Given the description of an element on the screen output the (x, y) to click on. 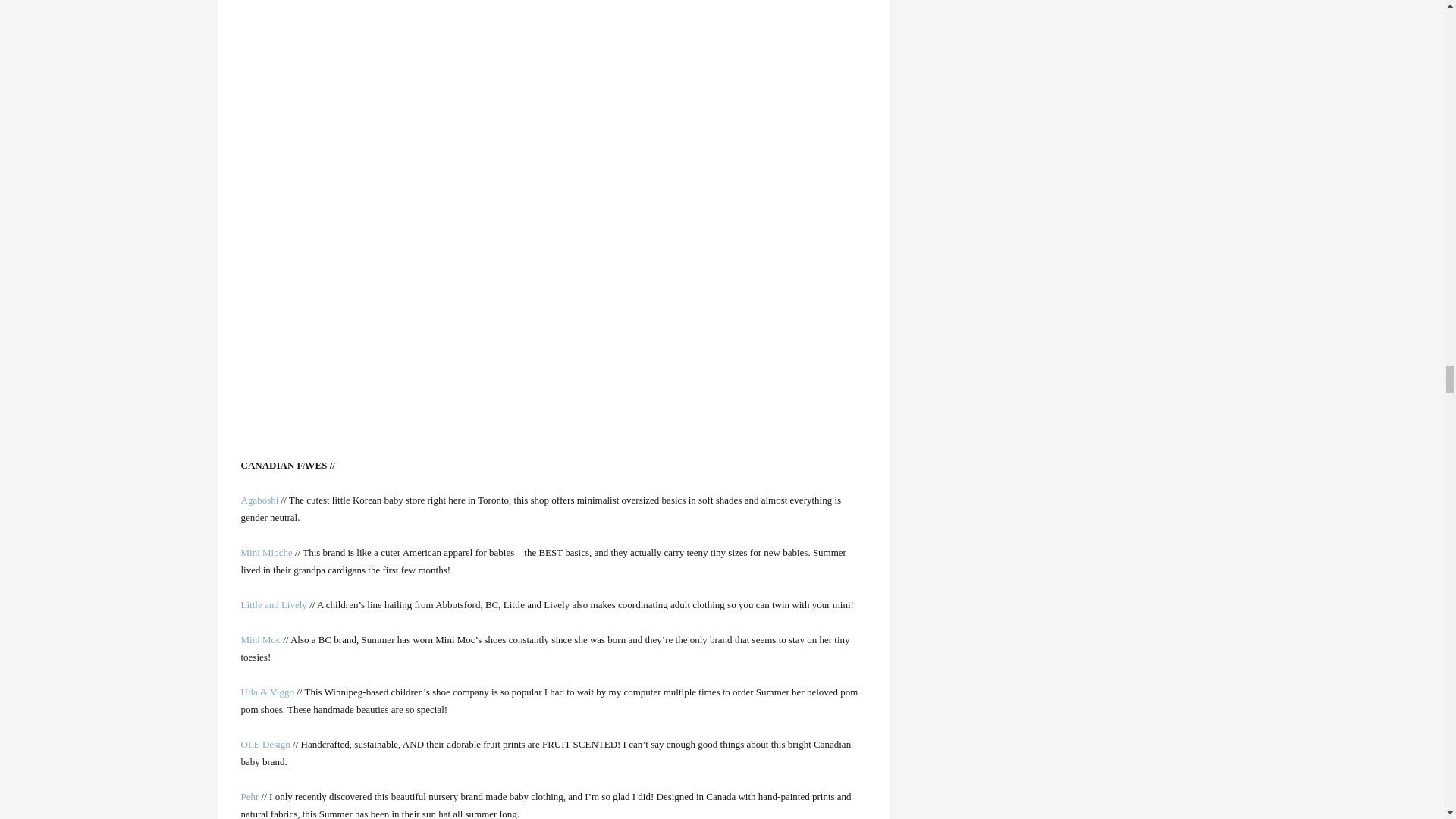
Agaboshi (260, 500)
Mini Mioche (266, 552)
